Given the description of an element on the screen output the (x, y) to click on. 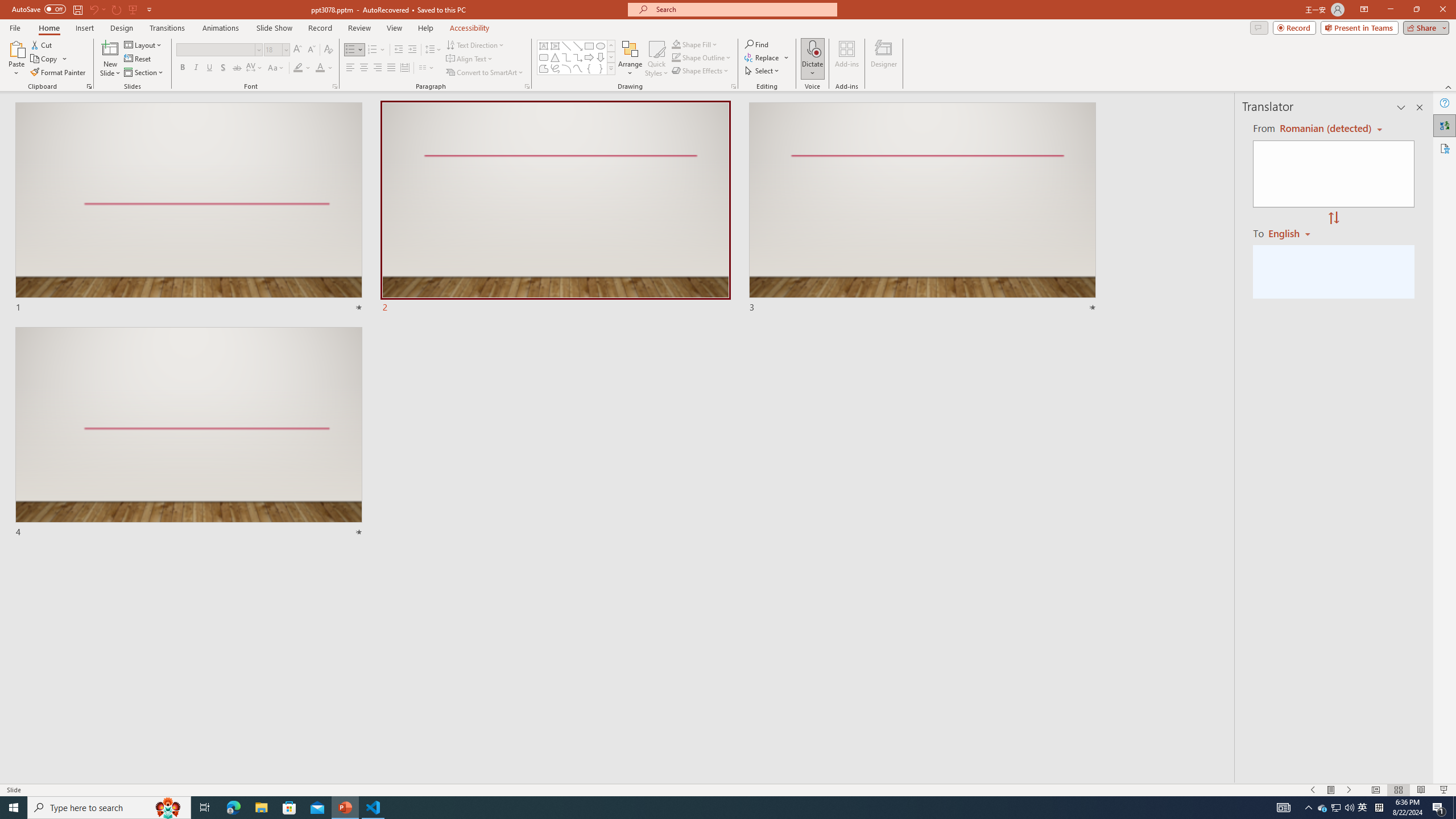
Shape Effects (700, 69)
